Given the description of an element on the screen output the (x, y) to click on. 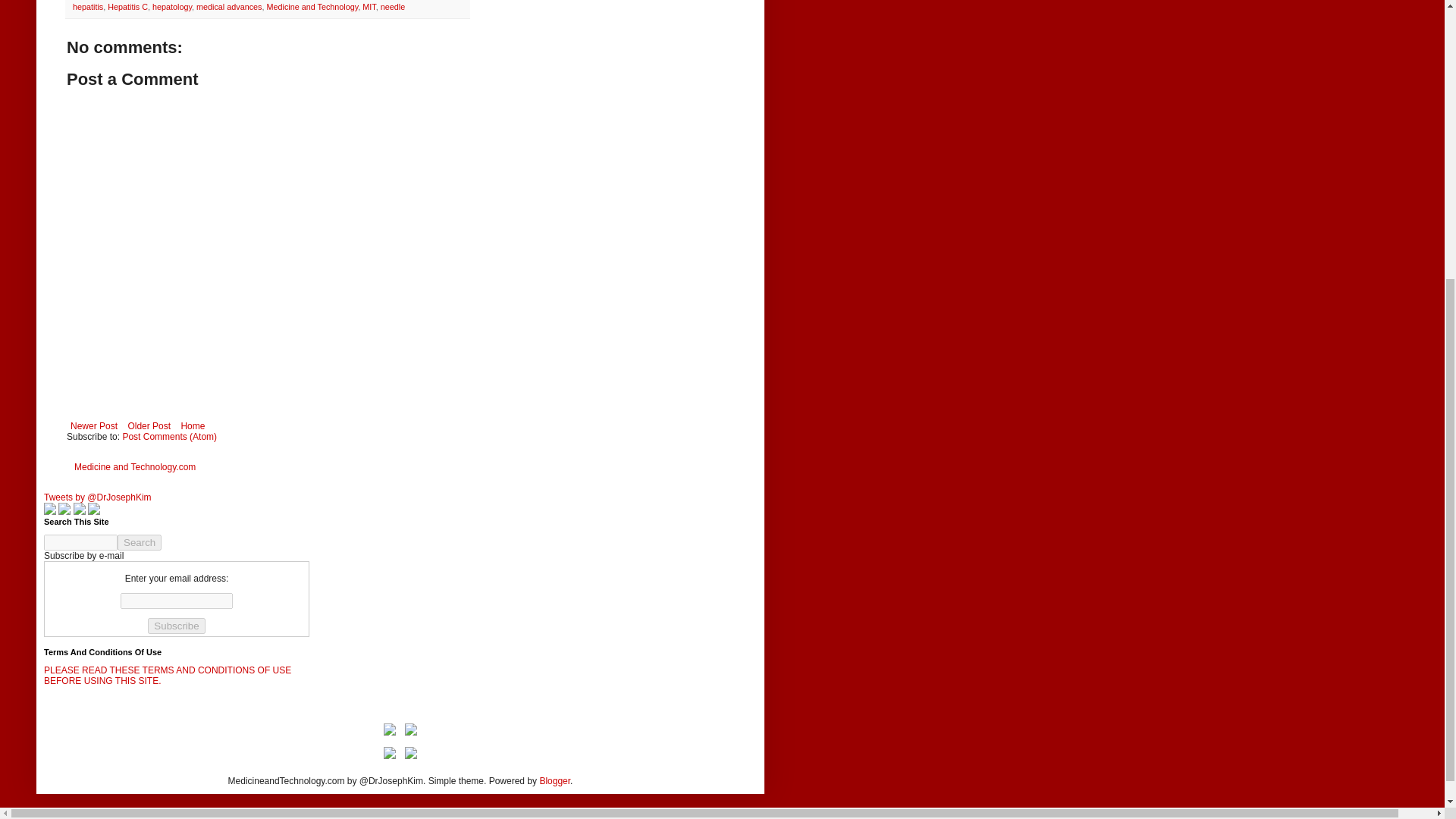
Older Post (148, 425)
medical advances (229, 6)
Search (139, 542)
Hepatitis C (127, 6)
Medicine and Technology (312, 6)
Medicine and Technology.com (134, 466)
MIT (368, 6)
search (139, 542)
search (80, 542)
hepatitis (87, 6)
Newer Post (93, 425)
Older Post (148, 425)
Search (139, 542)
Home (192, 425)
hepatology (172, 6)
